Given the description of an element on the screen output the (x, y) to click on. 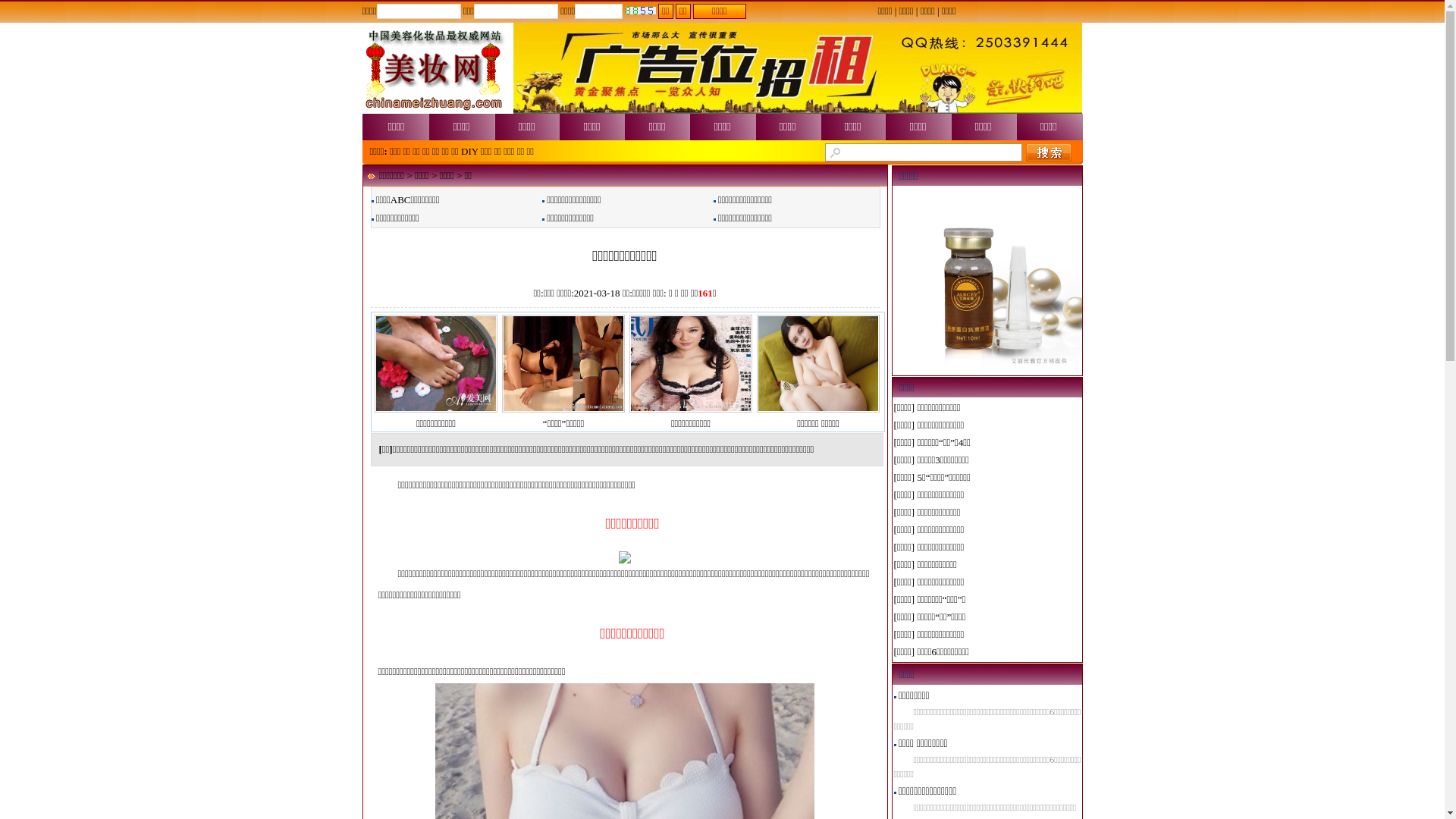
DIY Element type: text (469, 150)
   Element type: text (1048, 152)
